Given the description of an element on the screen output the (x, y) to click on. 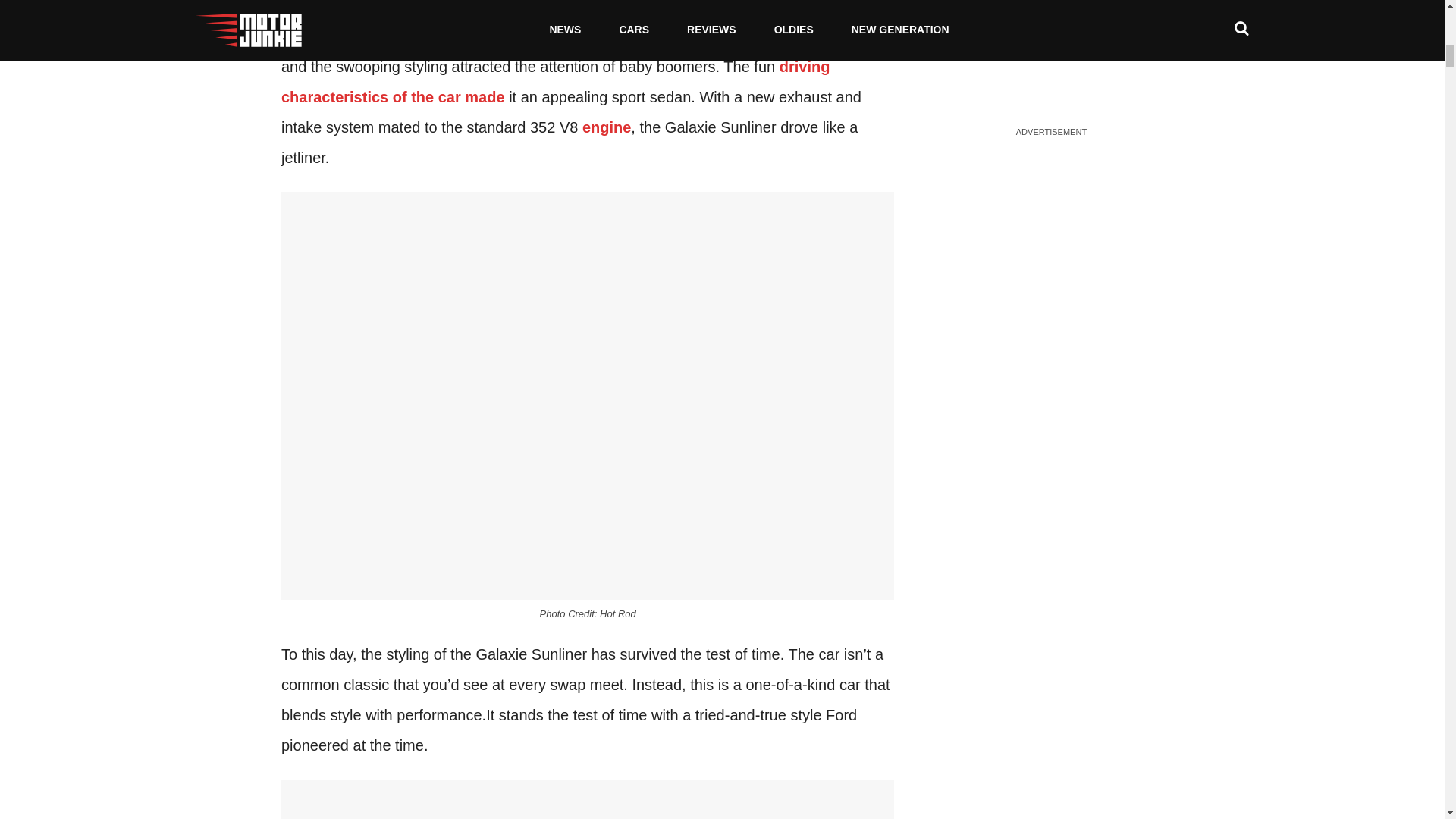
driving characteristics of the car made (555, 81)
engine (606, 126)
